Given the description of an element on the screen output the (x, y) to click on. 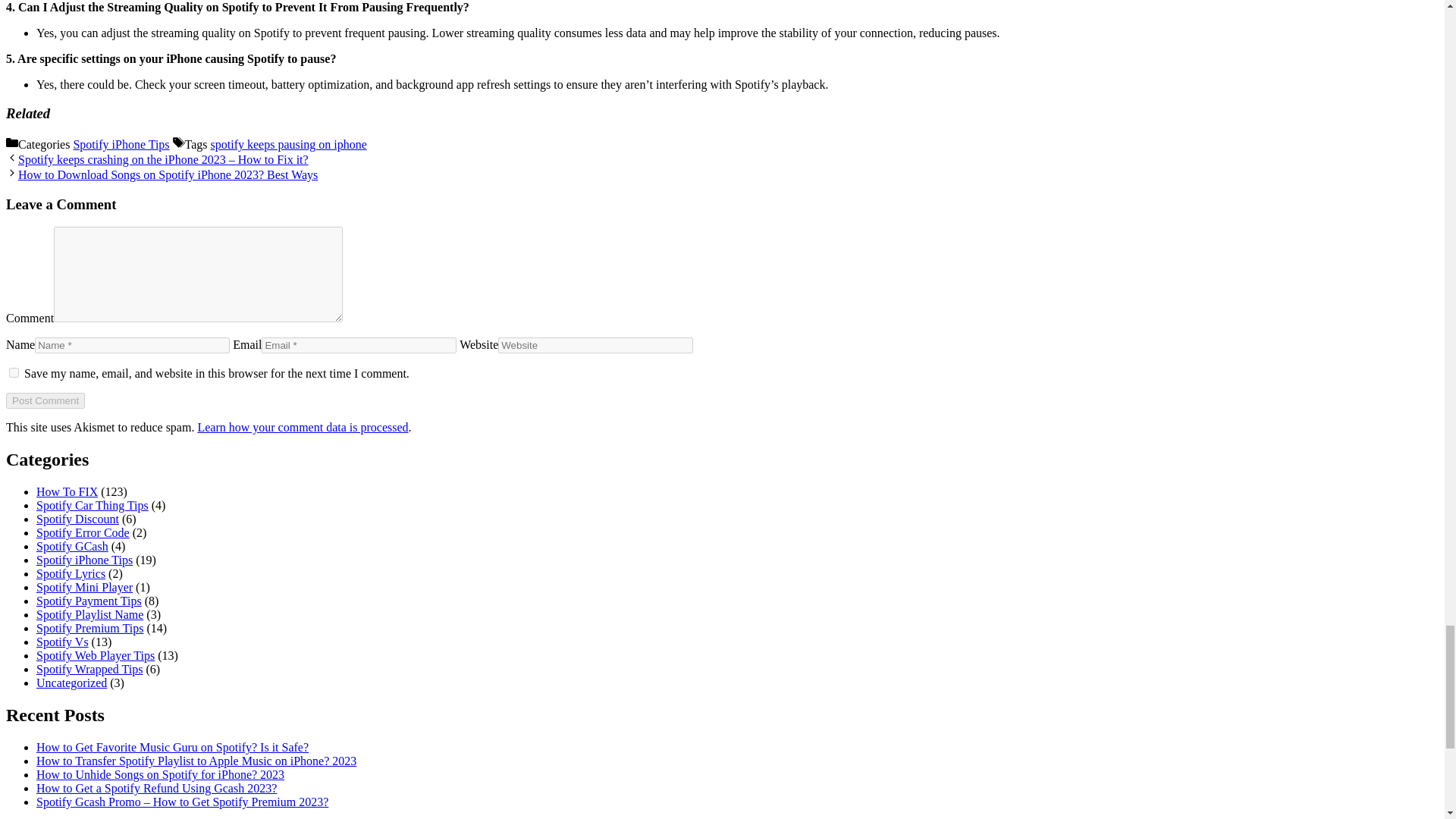
Spotify GCash (71, 545)
Spotify Discount (77, 518)
Spotify iPhone Tips (84, 559)
yes (13, 372)
Post Comment (44, 400)
Post Comment (44, 400)
Spotify Payment Tips (88, 600)
Learn how your comment data is processed (301, 427)
Spotify Error Code (82, 532)
Spotify iPhone Tips (120, 144)
